Given the description of an element on the screen output the (x, y) to click on. 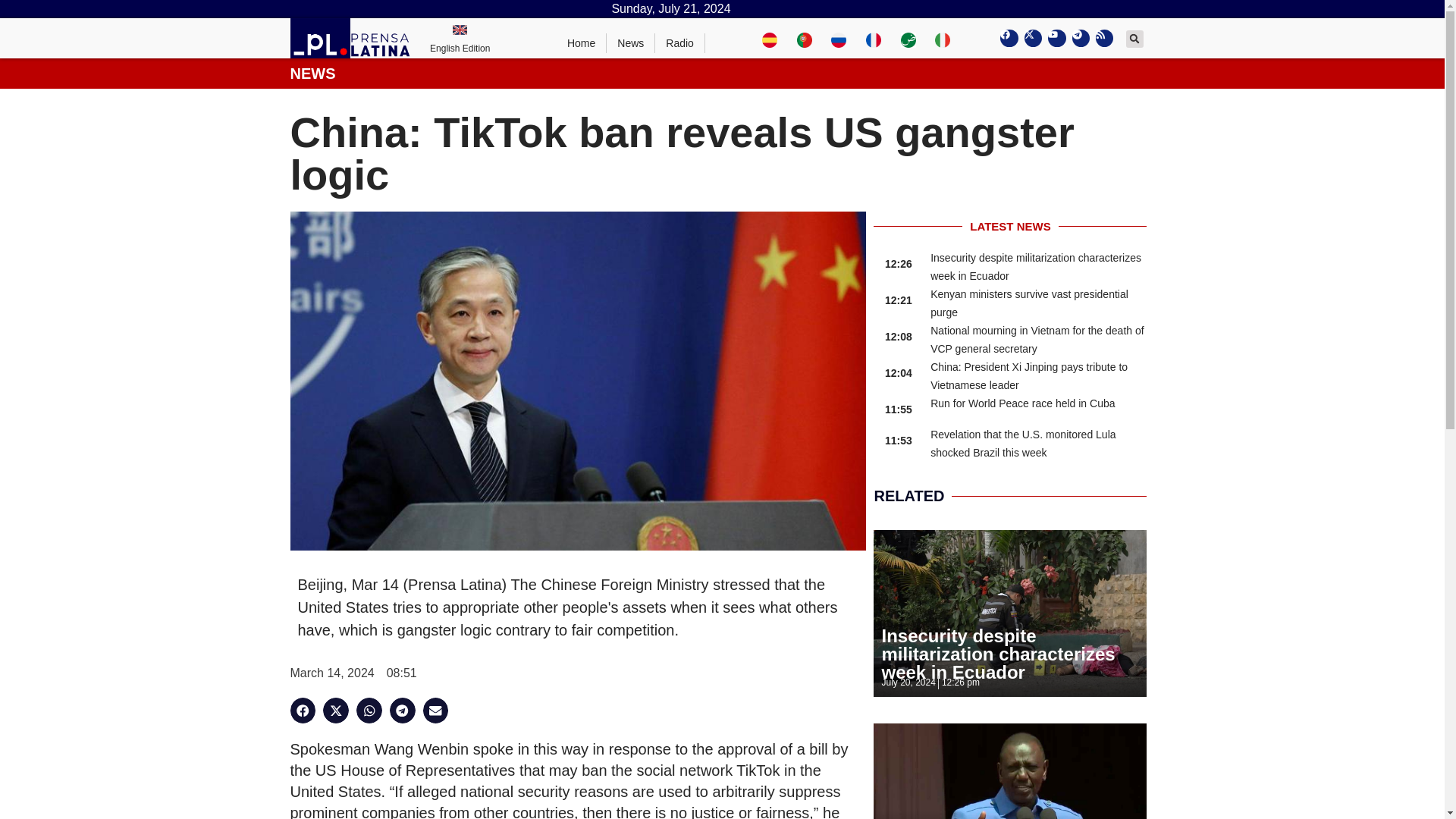
francia (873, 38)
March 14, 2024 (331, 673)
News (631, 43)
Run for World Peace race held in Cuba (1022, 403)
Kenyan ministers survive vast presidential purge (1029, 303)
Home (581, 43)
rusia (838, 38)
italia (942, 38)
Arabic lang (908, 38)
Radio (679, 43)
portugues (804, 38)
July 20, 2024 (907, 682)
